Given the description of an element on the screen output the (x, y) to click on. 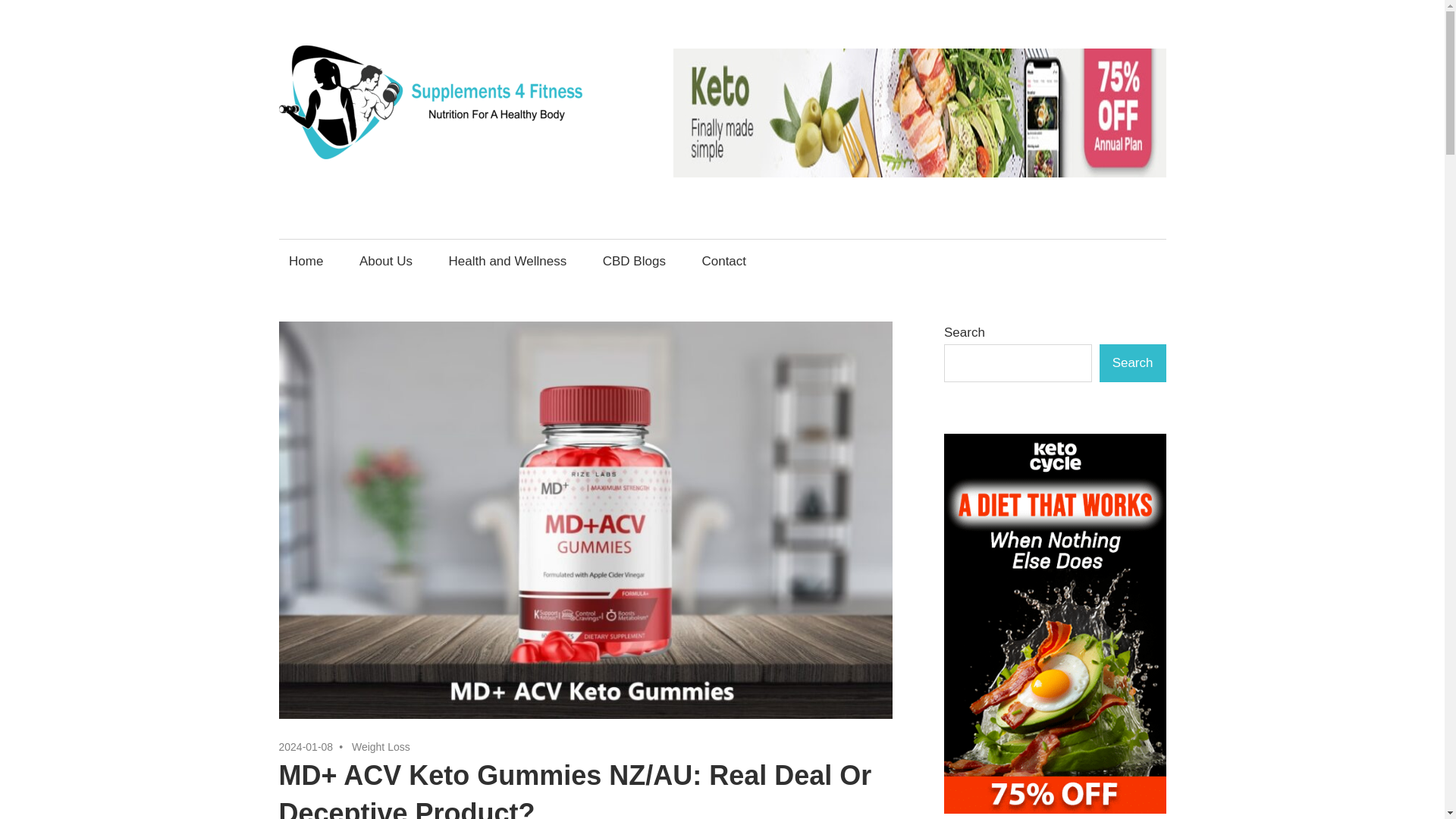
About Us (385, 260)
Contact (728, 260)
Home (306, 260)
2024-01-08 (306, 746)
Search (1132, 362)
Weight Loss (381, 746)
Health and Wellness (507, 260)
1:36 pm (306, 746)
CBD Blogs (633, 260)
